Given the description of an element on the screen output the (x, y) to click on. 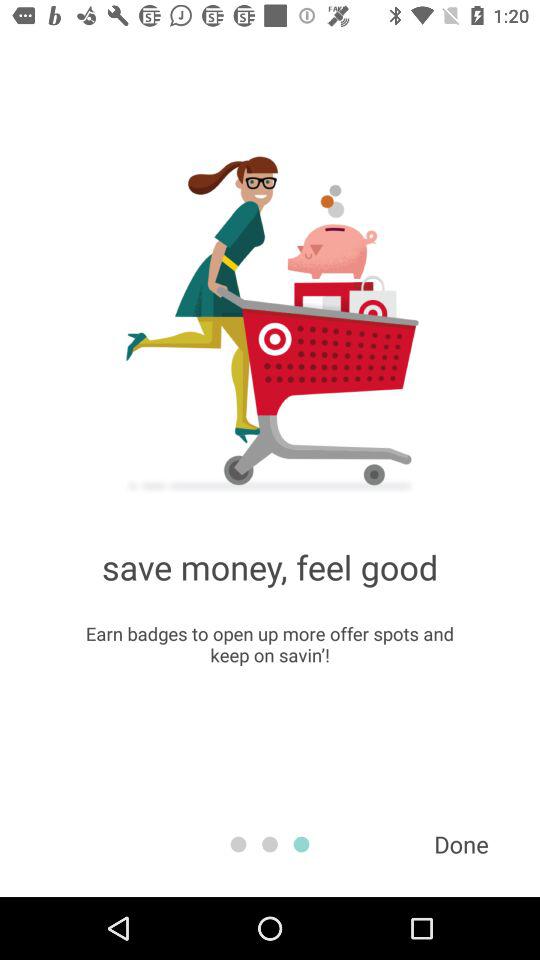
flip to done icon (461, 844)
